Given the description of an element on the screen output the (x, y) to click on. 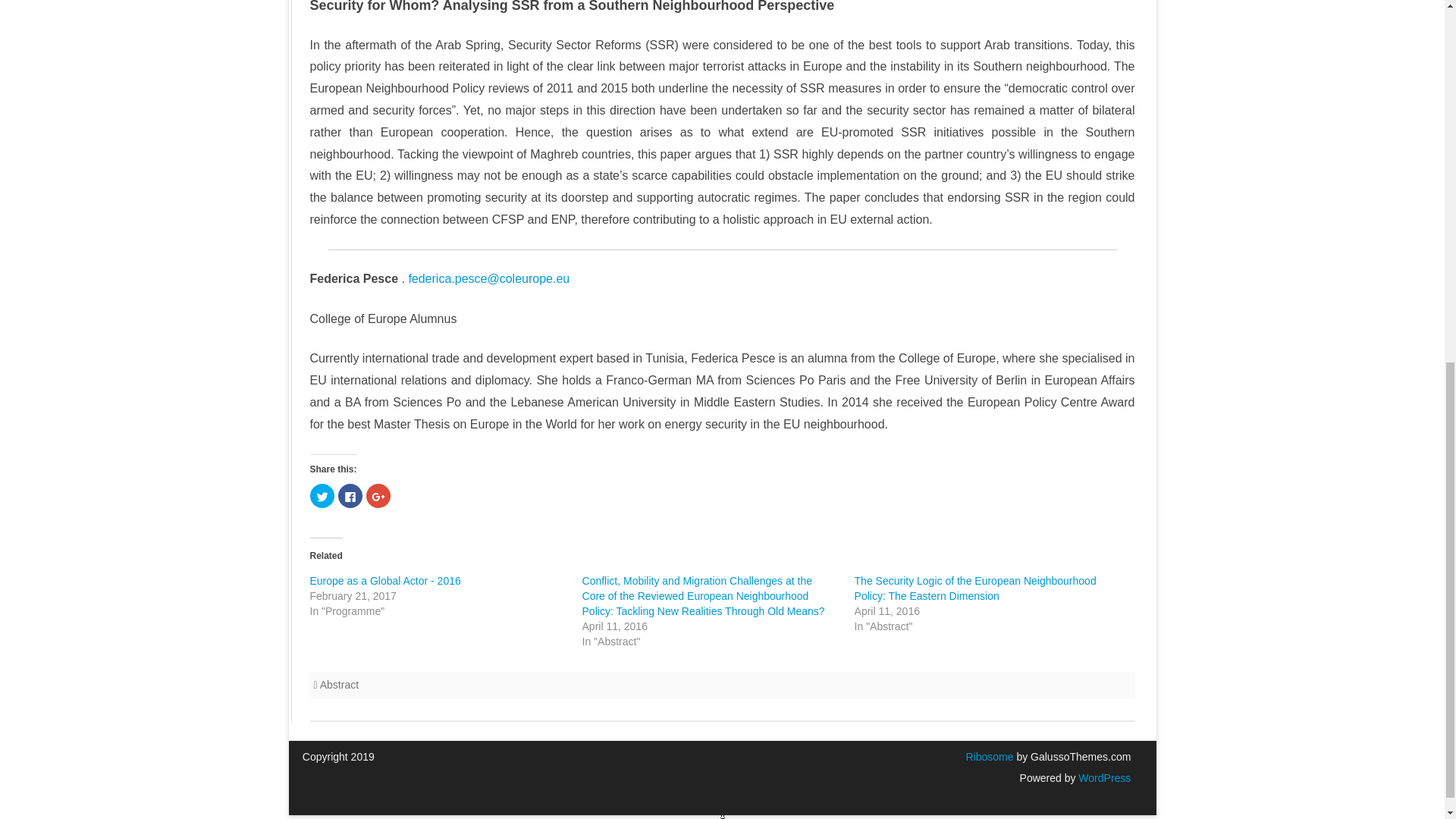
Ribosome (989, 756)
Europe as a Global Actor - 2016 (384, 580)
Abstract (339, 684)
WordPress (1103, 777)
Click to share on Twitter (320, 495)
Semantic Personal Publishing Platform (1103, 777)
Click to share on Facebook (349, 495)
